Given the description of an element on the screen output the (x, y) to click on. 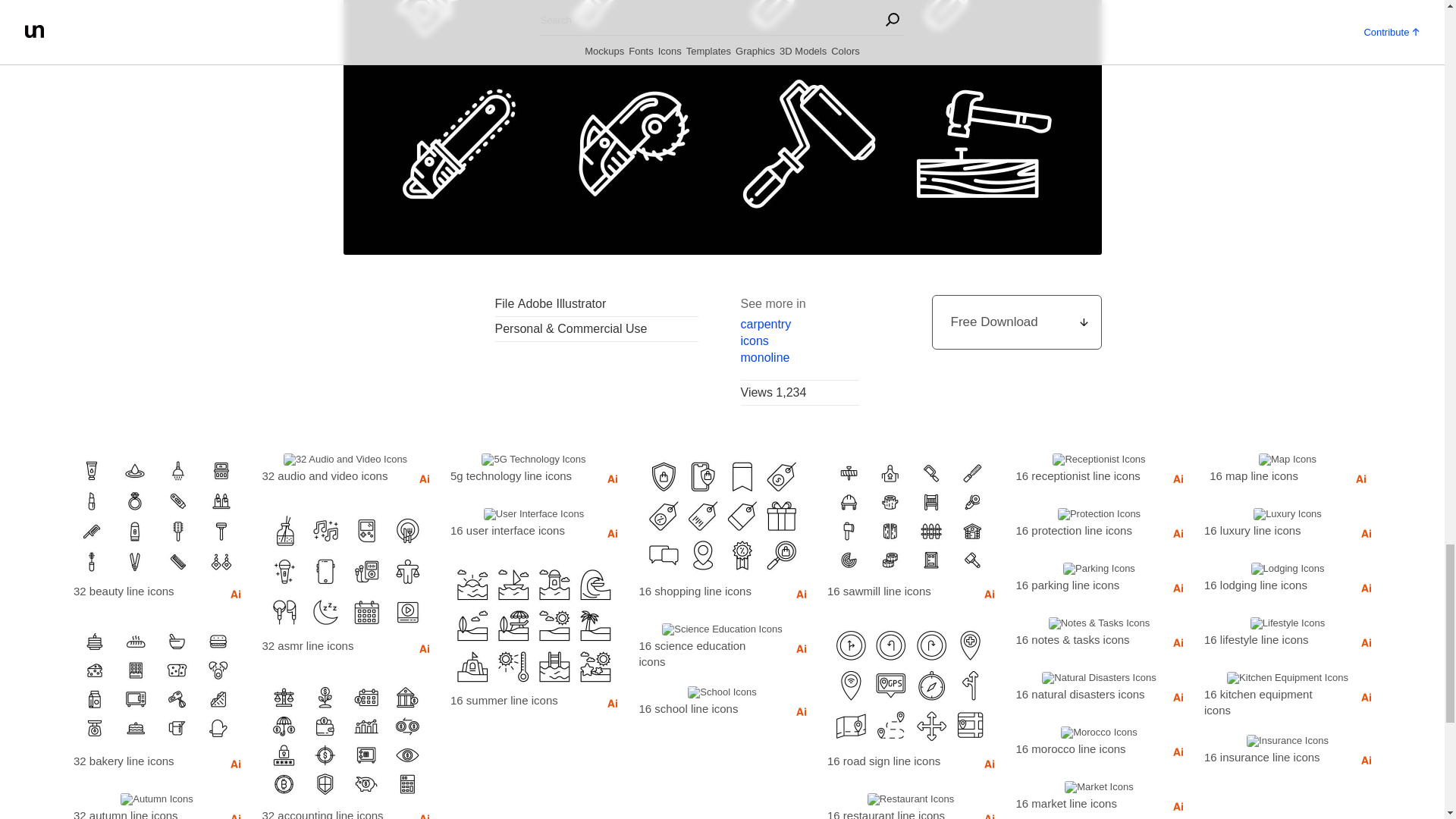
5g technology line icons (516, 475)
16 school line icons (705, 708)
32 beauty line icons (140, 590)
32 audio and video icons (329, 475)
32 asmr line icons (329, 645)
16 shopping line icons (705, 590)
16 sawmill line icons (893, 590)
monoline (799, 357)
32 autumn line icons (140, 812)
Free Download (1015, 321)
